Given the description of an element on the screen output the (x, y) to click on. 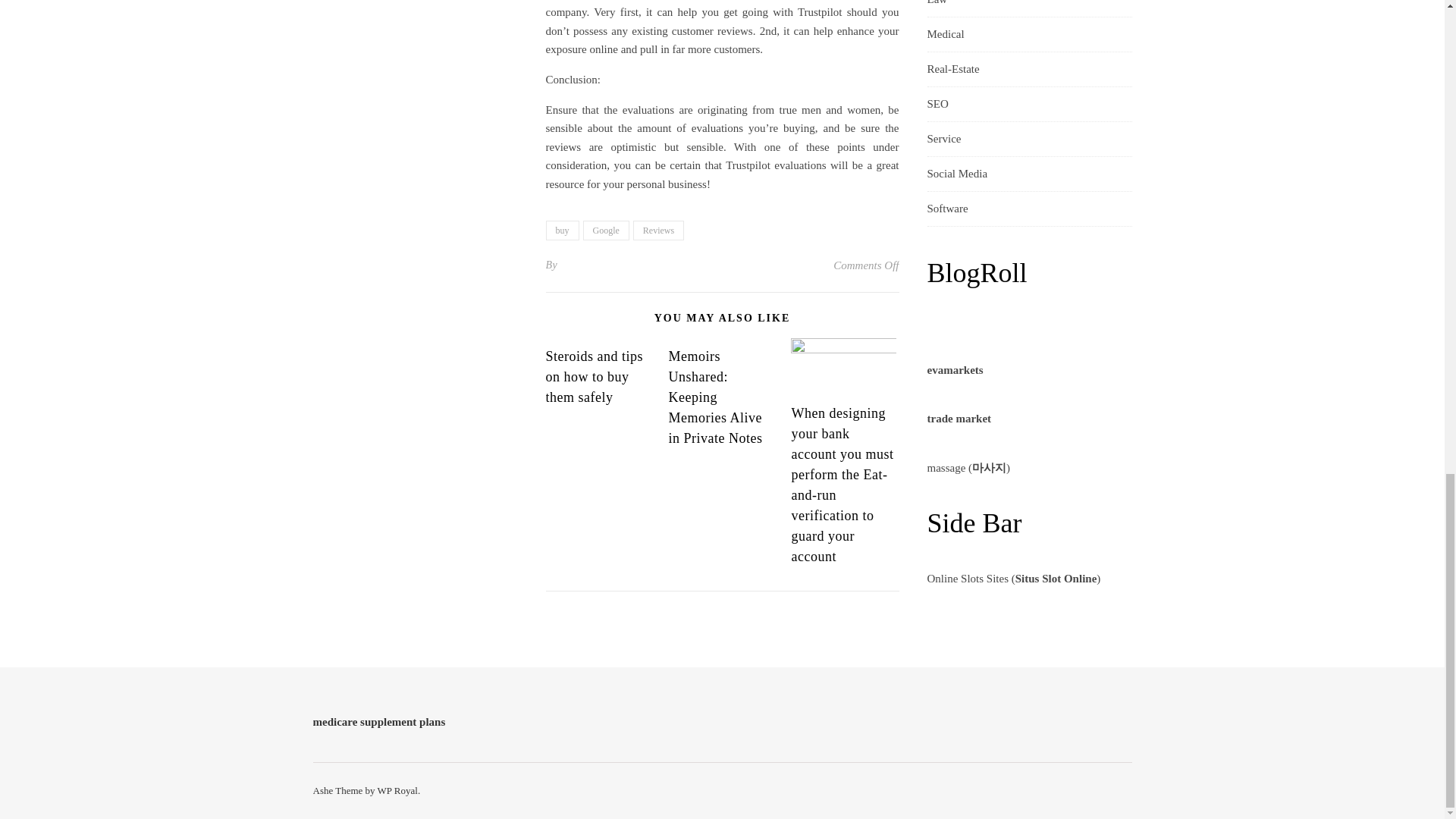
Reviews (658, 230)
Google (605, 230)
Medical (944, 34)
Software (947, 208)
Real-Estate (952, 69)
Social Media (956, 173)
Memoirs Unshared: Keeping Memories Alive in Private Notes (714, 396)
Law (936, 8)
Service (943, 139)
buy (562, 230)
Steroids and tips on how to buy them safely (594, 376)
